Given the description of an element on the screen output the (x, y) to click on. 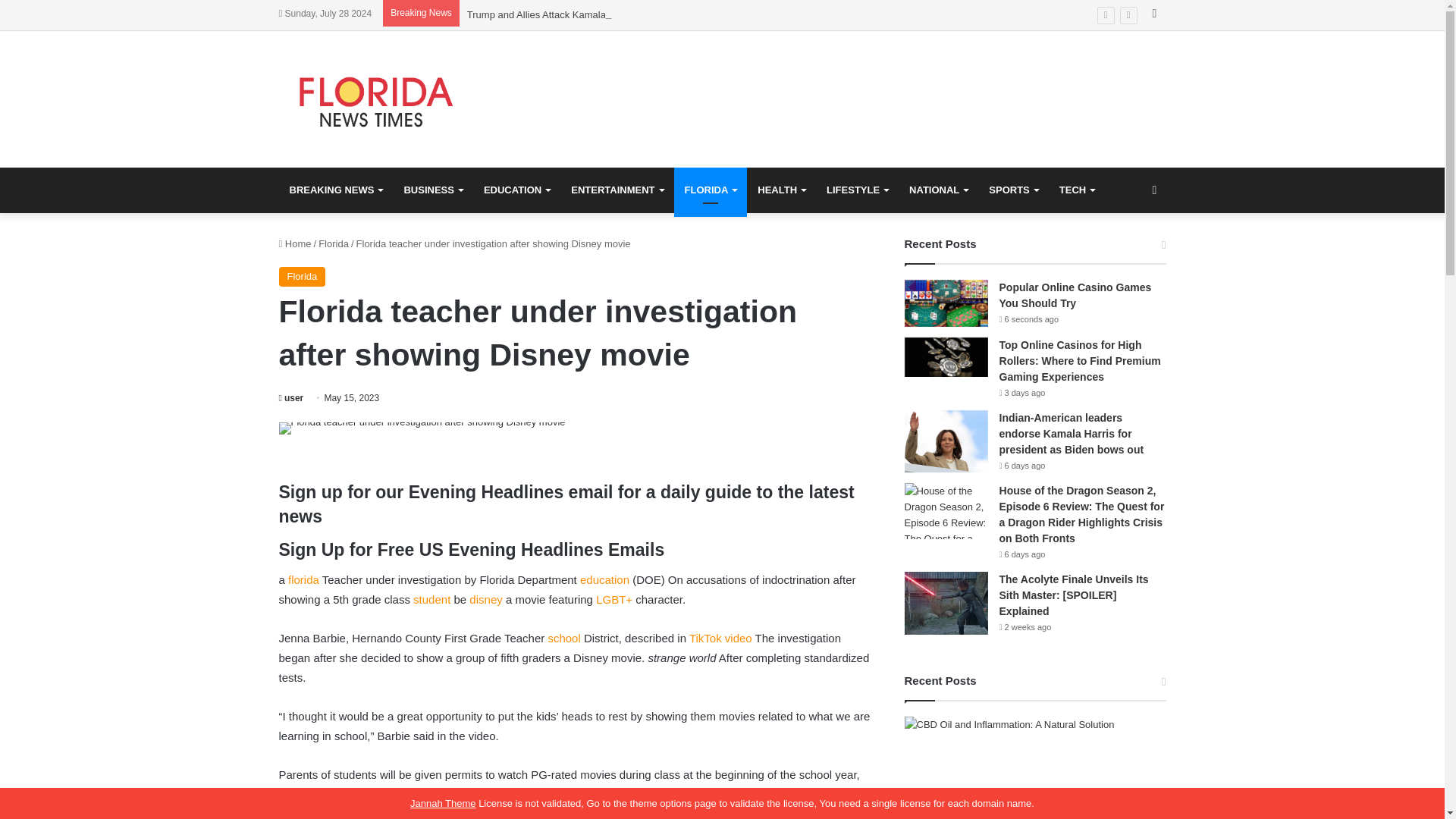
SPORTS (1013, 189)
user (291, 398)
LIFESTYLE (856, 189)
HEALTH (780, 189)
TikTok video (720, 637)
user (291, 398)
FLORIDA (709, 189)
student (431, 599)
EDUCATION (516, 189)
TECH (1076, 189)
ENTERTAINMENT (616, 189)
school (563, 637)
Home (295, 243)
education (603, 579)
